Given the description of an element on the screen output the (x, y) to click on. 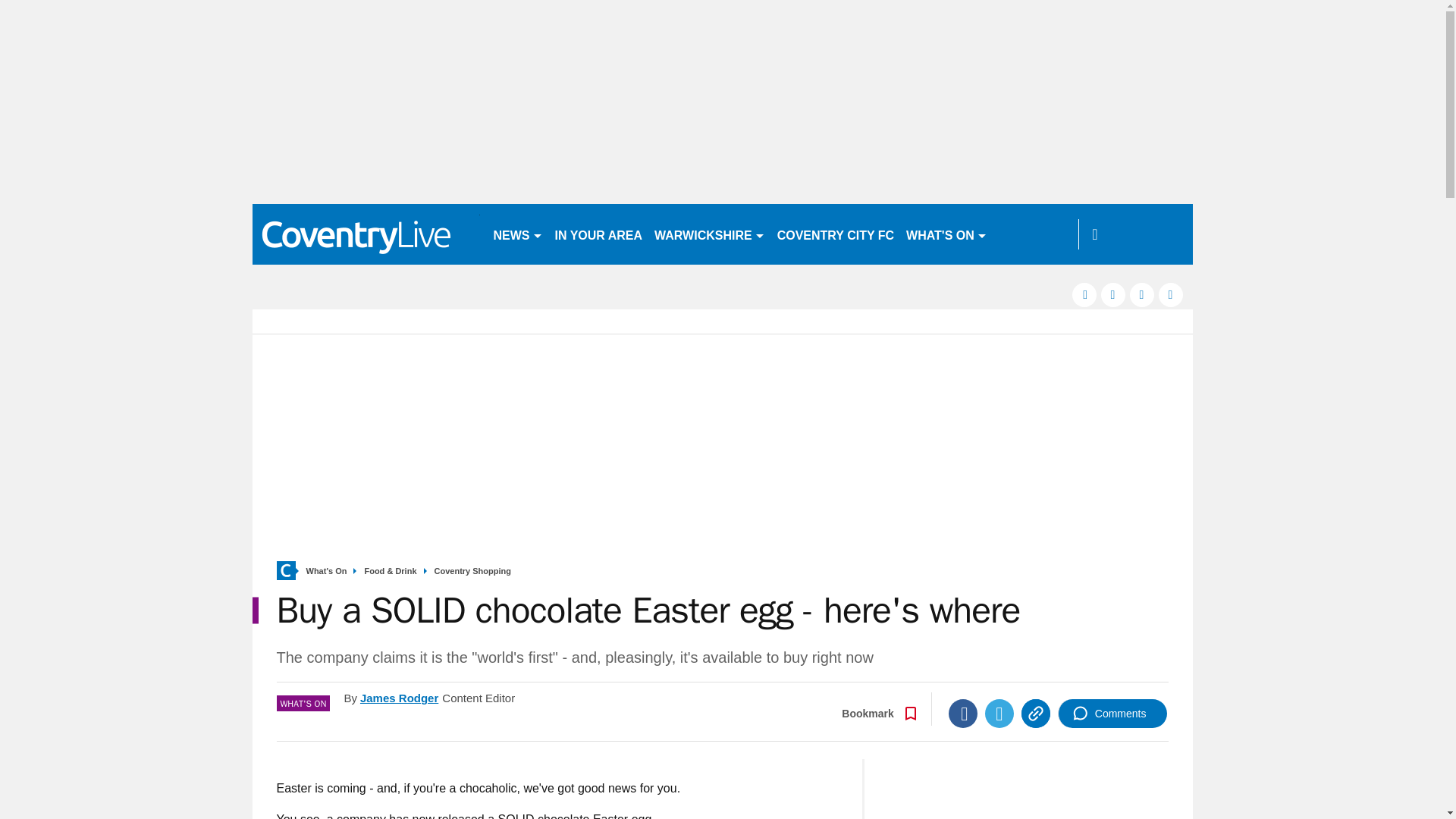
twitter (1112, 294)
Comments (1112, 713)
IN YOUR AREA (598, 233)
WARWICKSHIRE (709, 233)
coventrytelegraph (365, 233)
pinterest (1141, 294)
WASPS RFC (1034, 233)
Twitter (999, 713)
COVENTRY CITY FC (835, 233)
Facebook (962, 713)
